Given the description of an element on the screen output the (x, y) to click on. 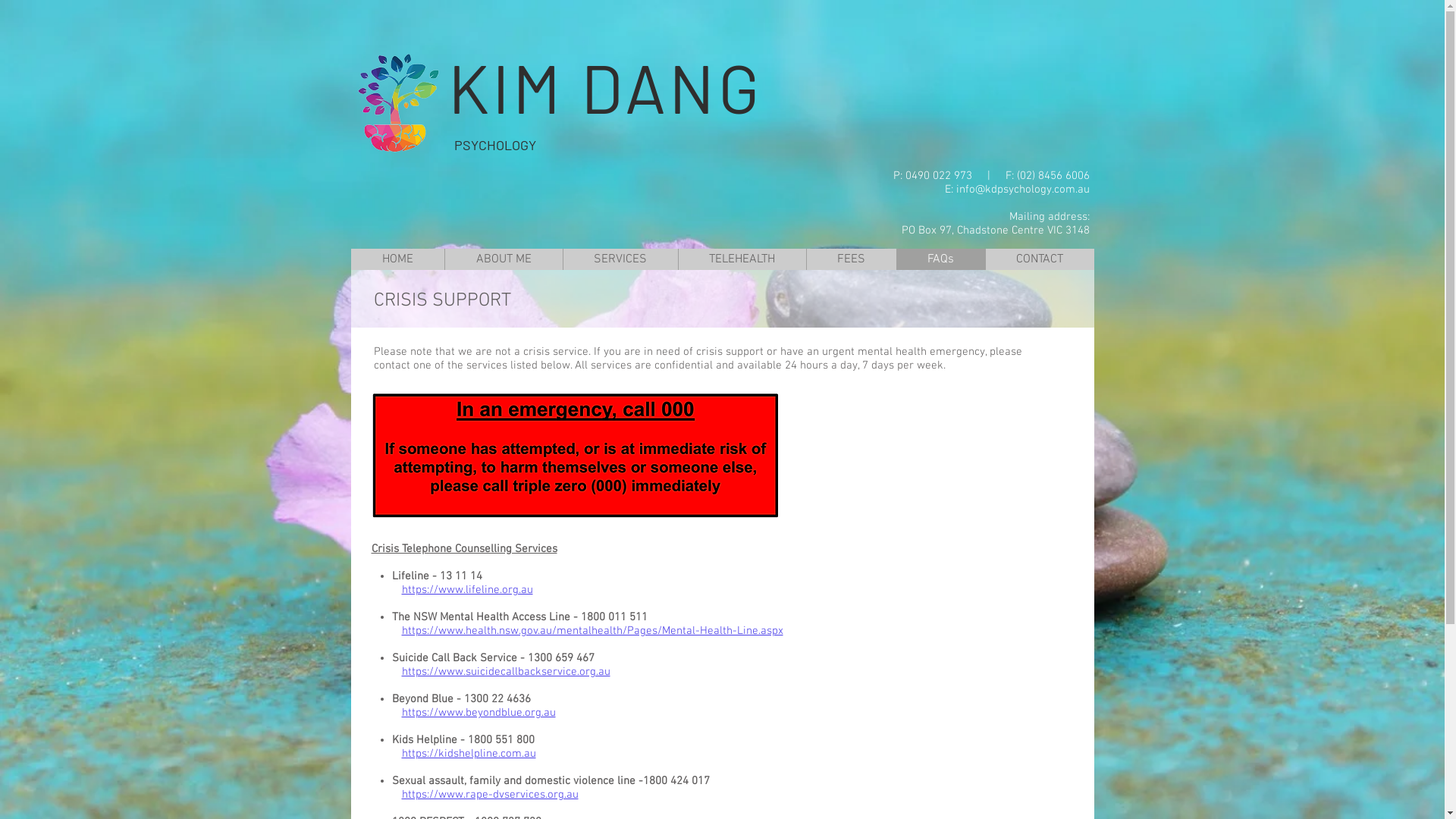
info@kdpsychology.com.au Element type: text (1021, 189)
KIM DANG  Element type: text (612, 86)
CONTACT Element type: text (1038, 258)
HOME Element type: text (396, 258)
https://www.rape-dvservices.org.au Element type: text (489, 794)
SERVICES Element type: text (619, 258)
FEES Element type: text (850, 258)
FAQs Element type: text (940, 258)
https://www.lifeline.org.au Element type: text (467, 589)
https://kidshelpline.com.au Element type: text (468, 753)
https://www.suicidecallbackservice.org.au Element type: text (505, 671)
TELEHEALTH Element type: text (741, 258)
https://www.beyondblue.org.au Element type: text (478, 712)
ABOUT ME Element type: text (503, 258)
